Given the description of an element on the screen output the (x, y) to click on. 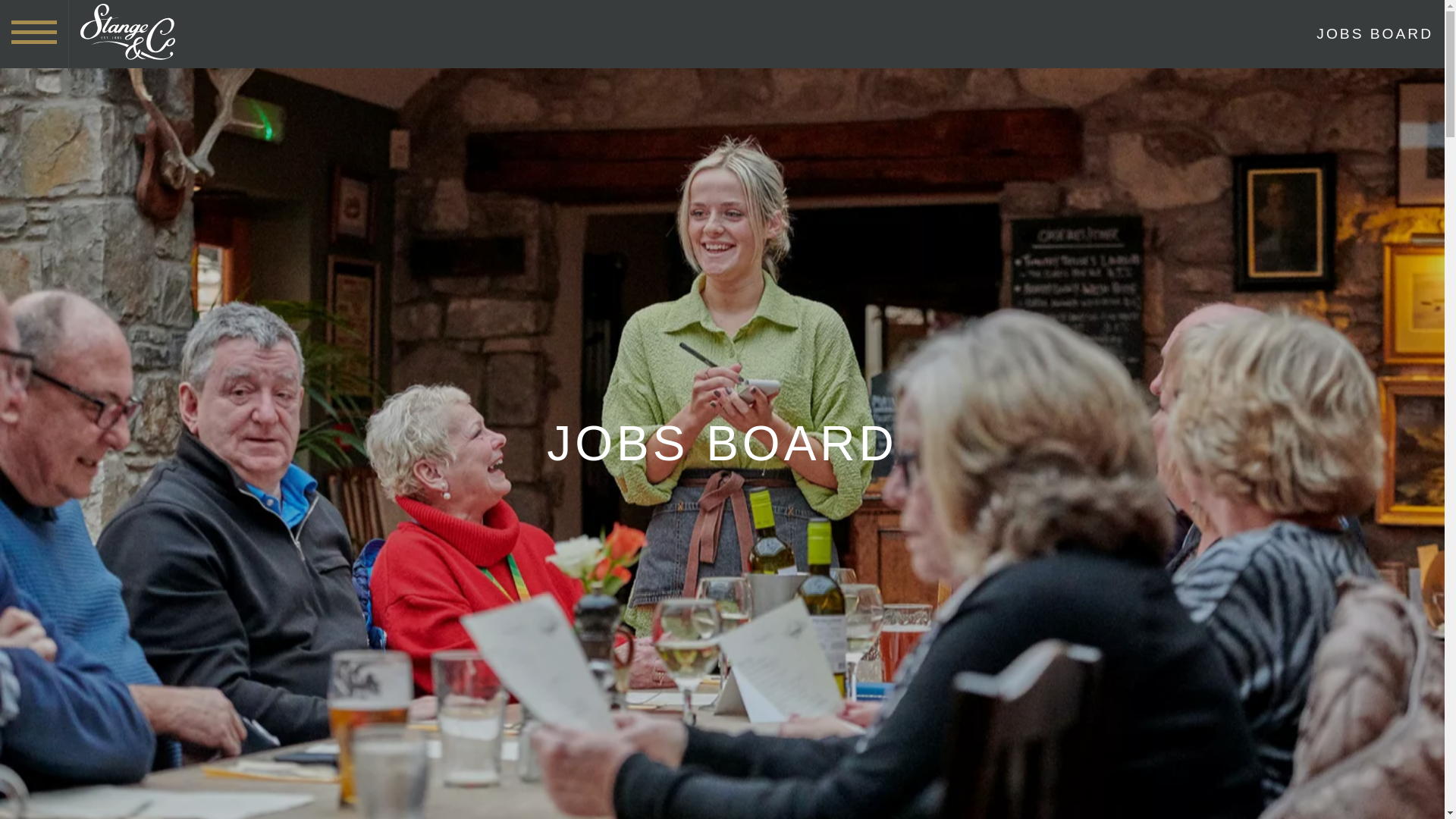
JOBS BOARD (1374, 33)
